Given the description of an element on the screen output the (x, y) to click on. 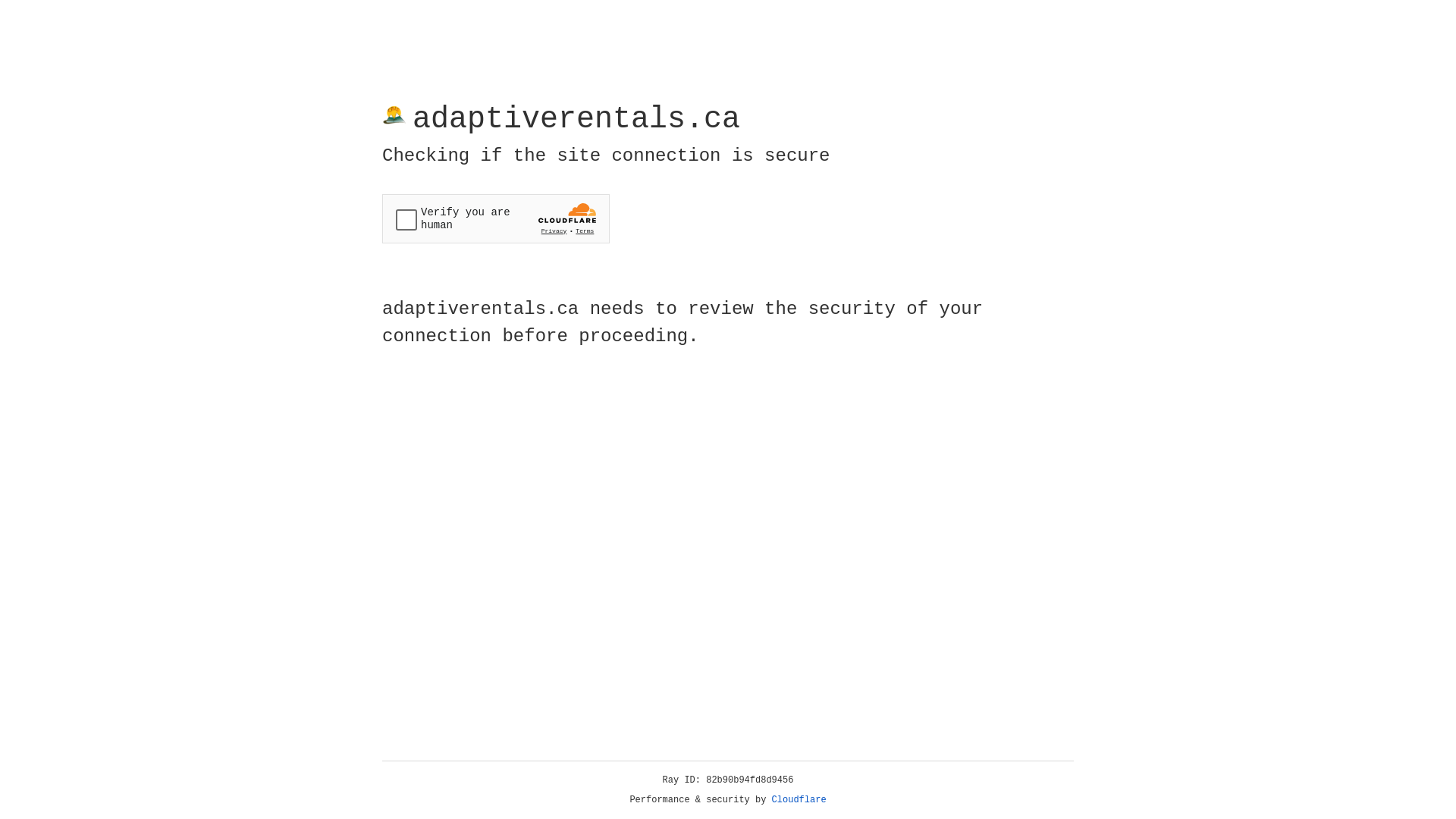
Cloudflare Element type: text (798, 799)
Widget containing a Cloudflare security challenge Element type: hover (495, 218)
